Given the description of an element on the screen output the (x, y) to click on. 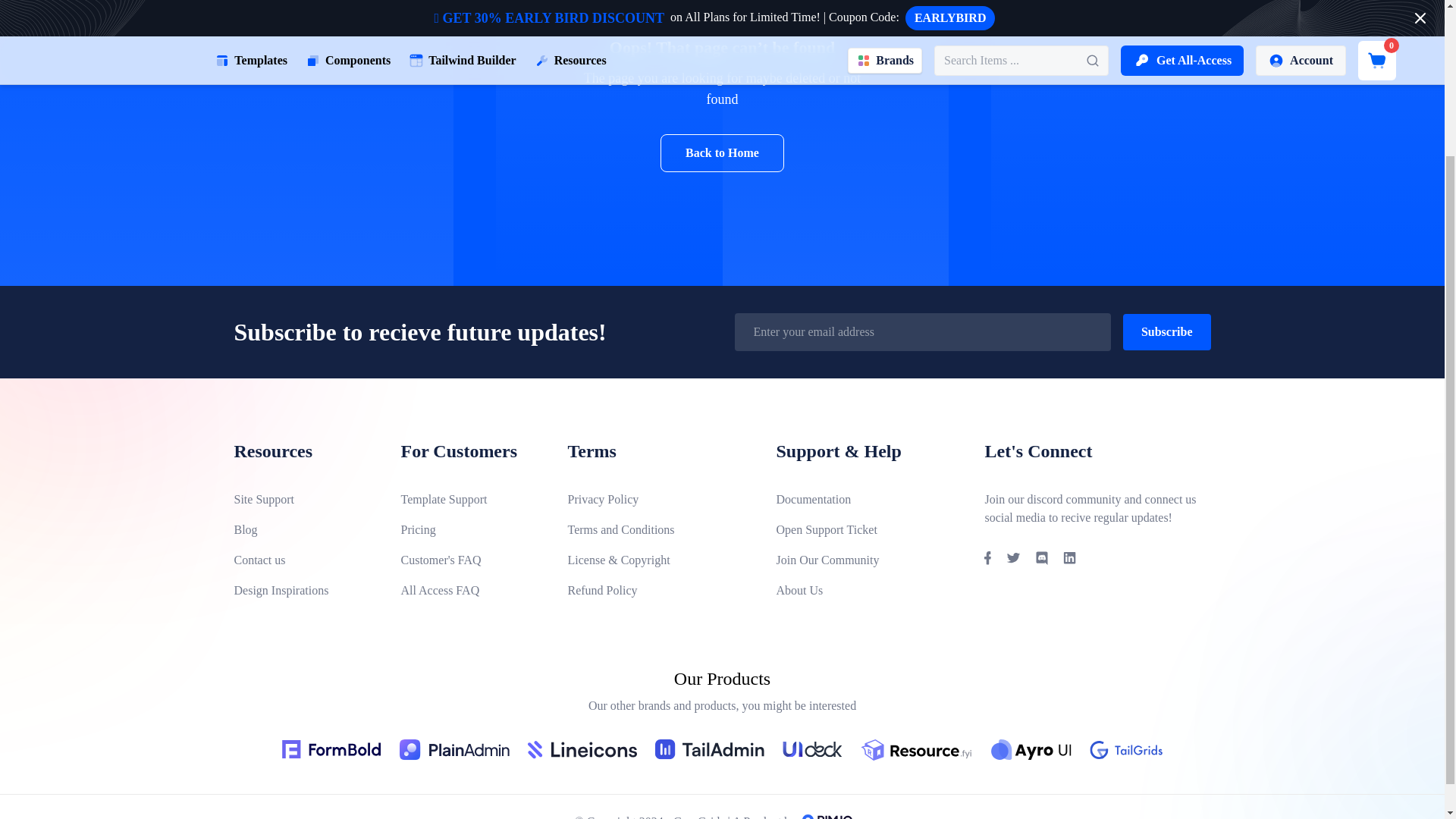
All Access FAQ (471, 590)
Subscribe (1166, 330)
Documentation (867, 499)
Blog (303, 529)
Site Support (303, 499)
Back to Home (722, 152)
Customer's FAQ (471, 560)
Pricing (471, 529)
Terms and Conditions (659, 529)
Template Support (471, 499)
